Given the description of an element on the screen output the (x, y) to click on. 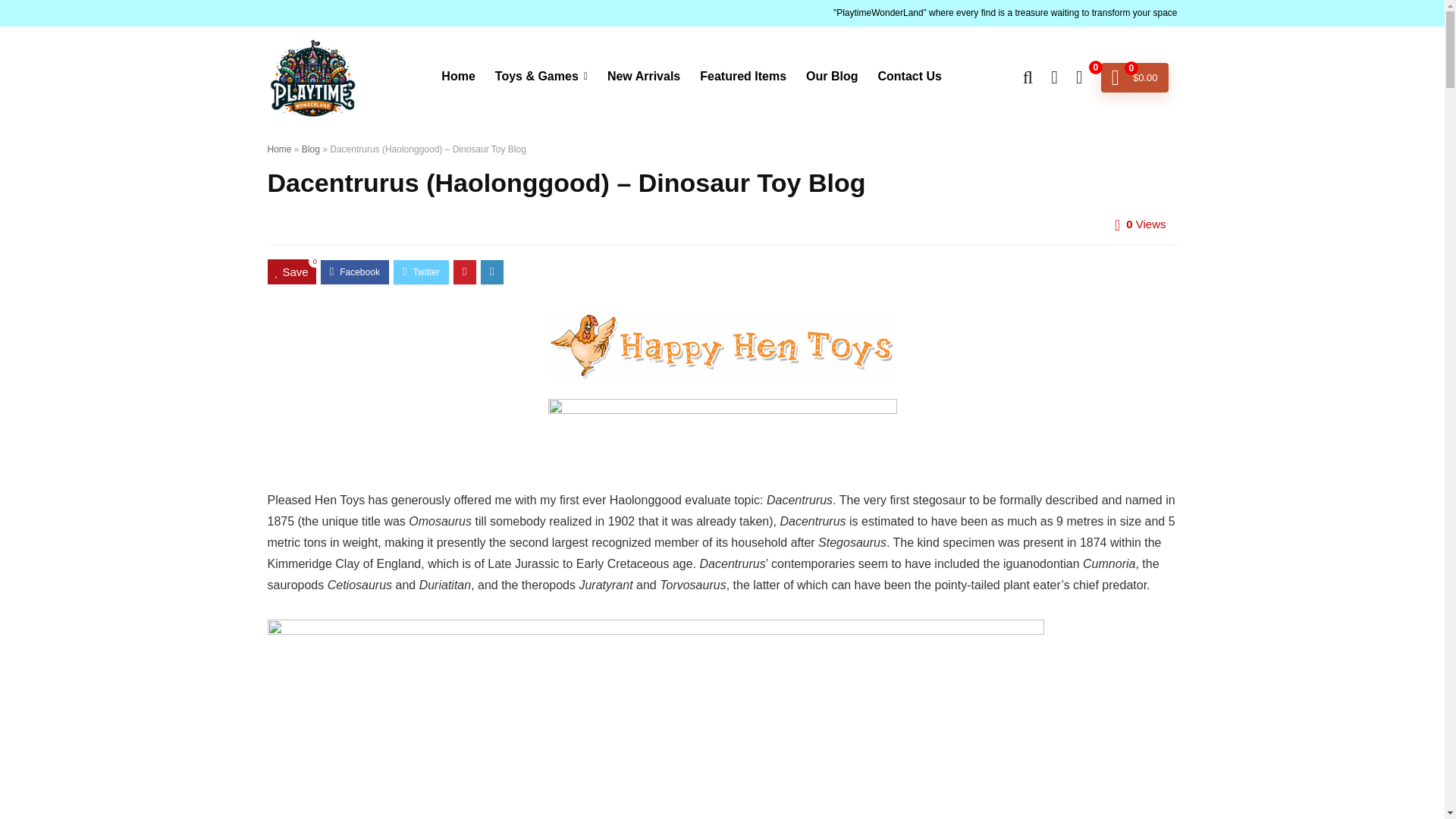
Home (457, 77)
New Arrivals (643, 77)
Blog (310, 149)
Featured Items (743, 77)
Our Blog (831, 77)
Contact Us (908, 77)
Home (278, 149)
